Given the description of an element on the screen output the (x, y) to click on. 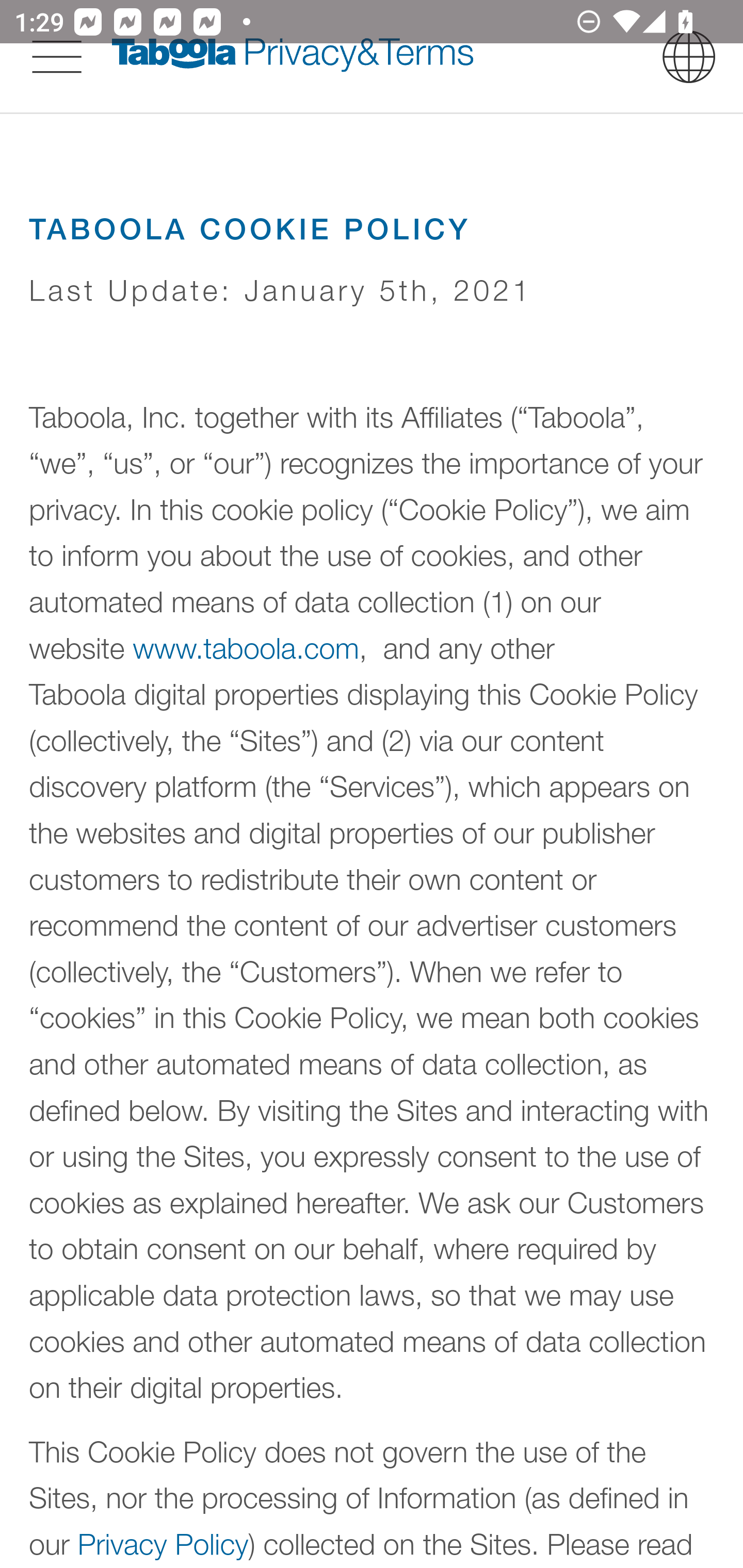
Taboola Privacy & Terms Logo (292, 56)
English (688, 56)
www.taboola.com (246, 648)
Privacy Policy (161, 1543)
